Given the description of an element on the screen output the (x, y) to click on. 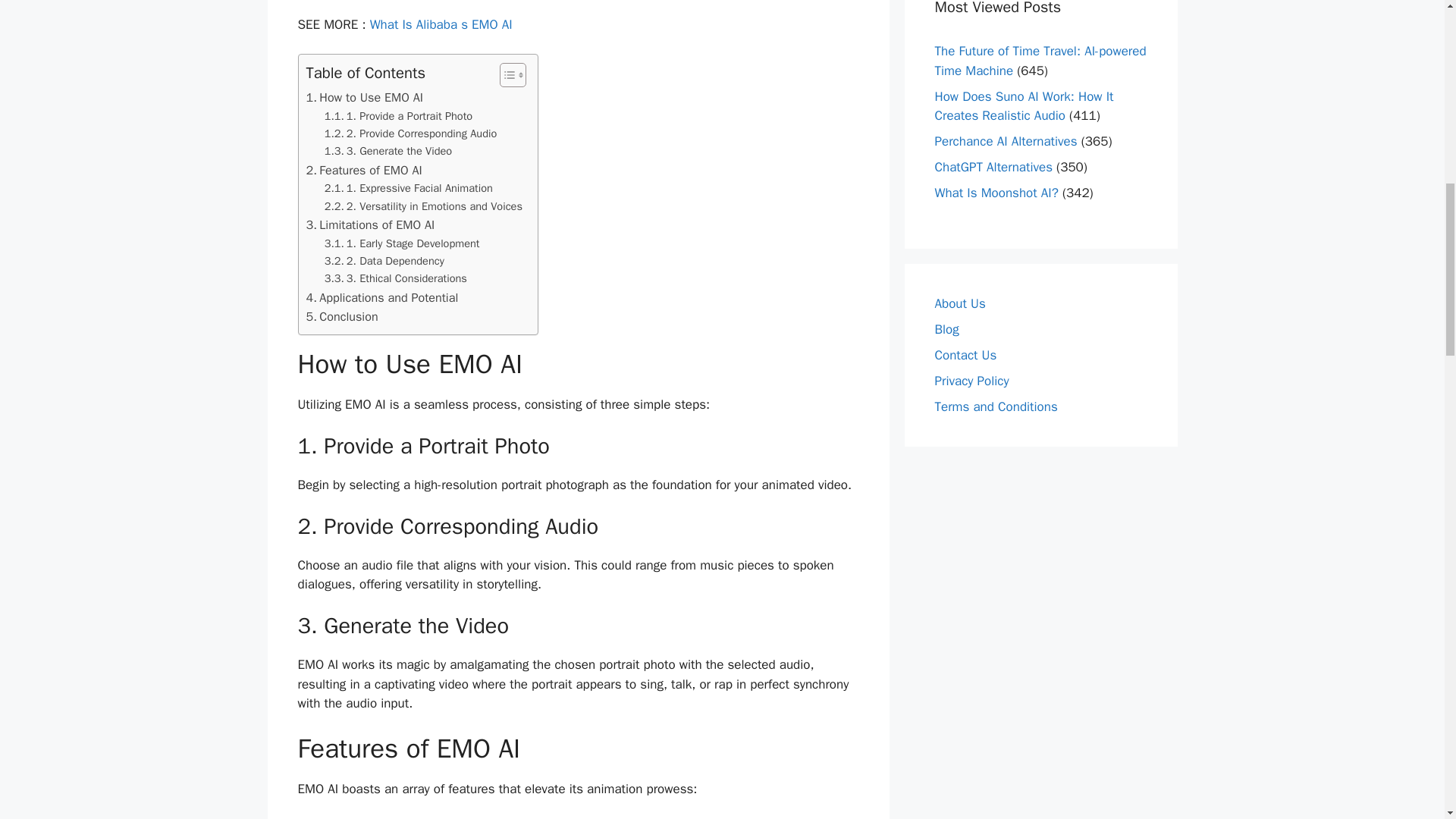
2. Data Dependency (384, 261)
1. Early Stage Development (402, 243)
Applications and Potential (381, 297)
How to Use EMO AI (364, 97)
Limitations of EMO AI (370, 225)
1. Expressive Facial Animation (408, 188)
Features of EMO AI (363, 170)
2. Versatility in Emotions and Voices (423, 206)
Applications and Potential (381, 297)
2. Provide Corresponding Audio (410, 133)
3. Ethical Considerations (395, 278)
1. Provide a Portrait Photo (397, 116)
3. Ethical Considerations (395, 278)
3. Generate the Video (387, 150)
2. Versatility in Emotions and Voices (423, 206)
